Given the description of an element on the screen output the (x, y) to click on. 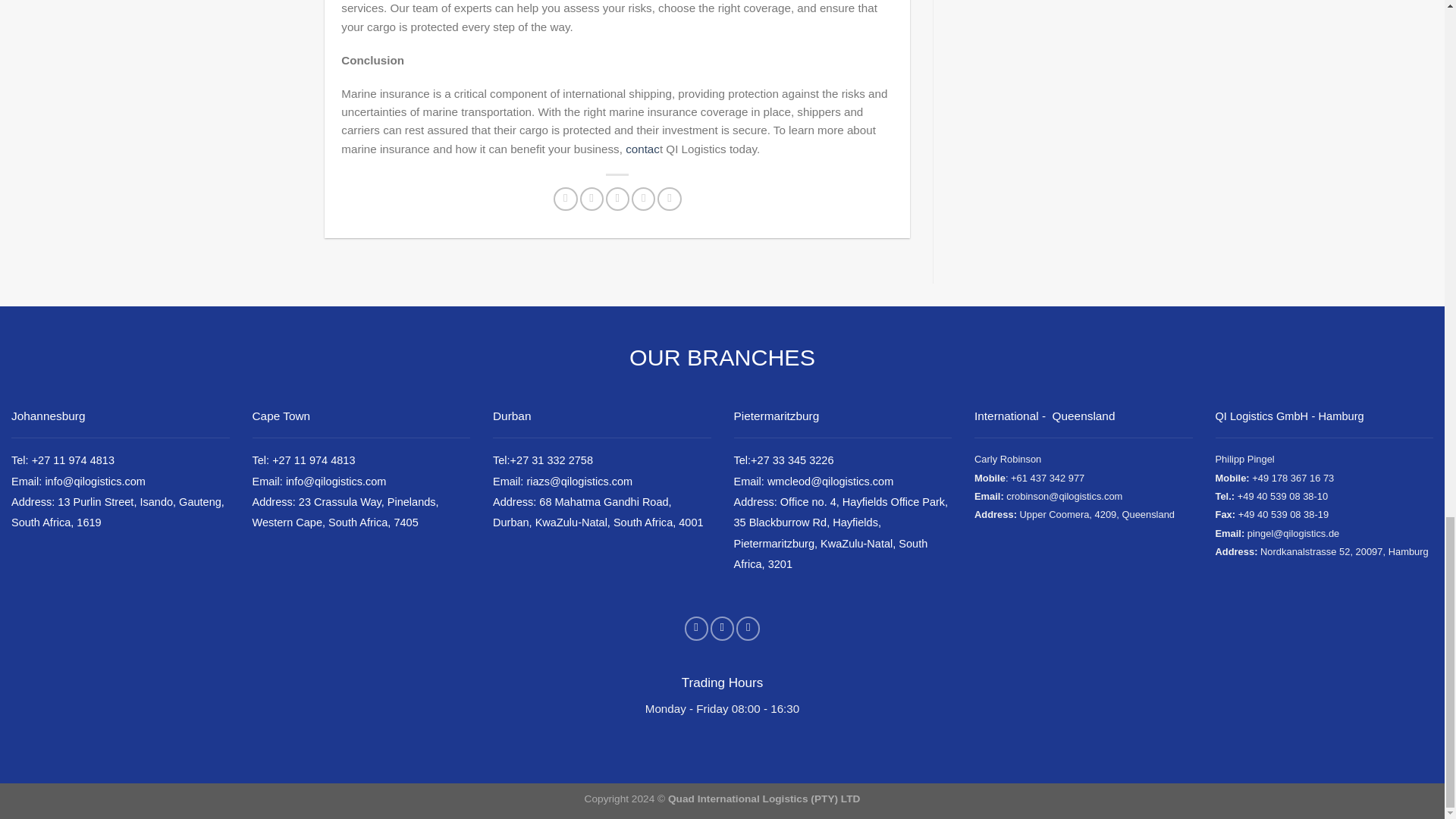
Share on LinkedIn (669, 198)
contac (642, 148)
Email to a Friend (616, 198)
Share on Twitter (590, 198)
Share on Facebook (564, 198)
Pin on Pinterest (643, 198)
